Given the description of an element on the screen output the (x, y) to click on. 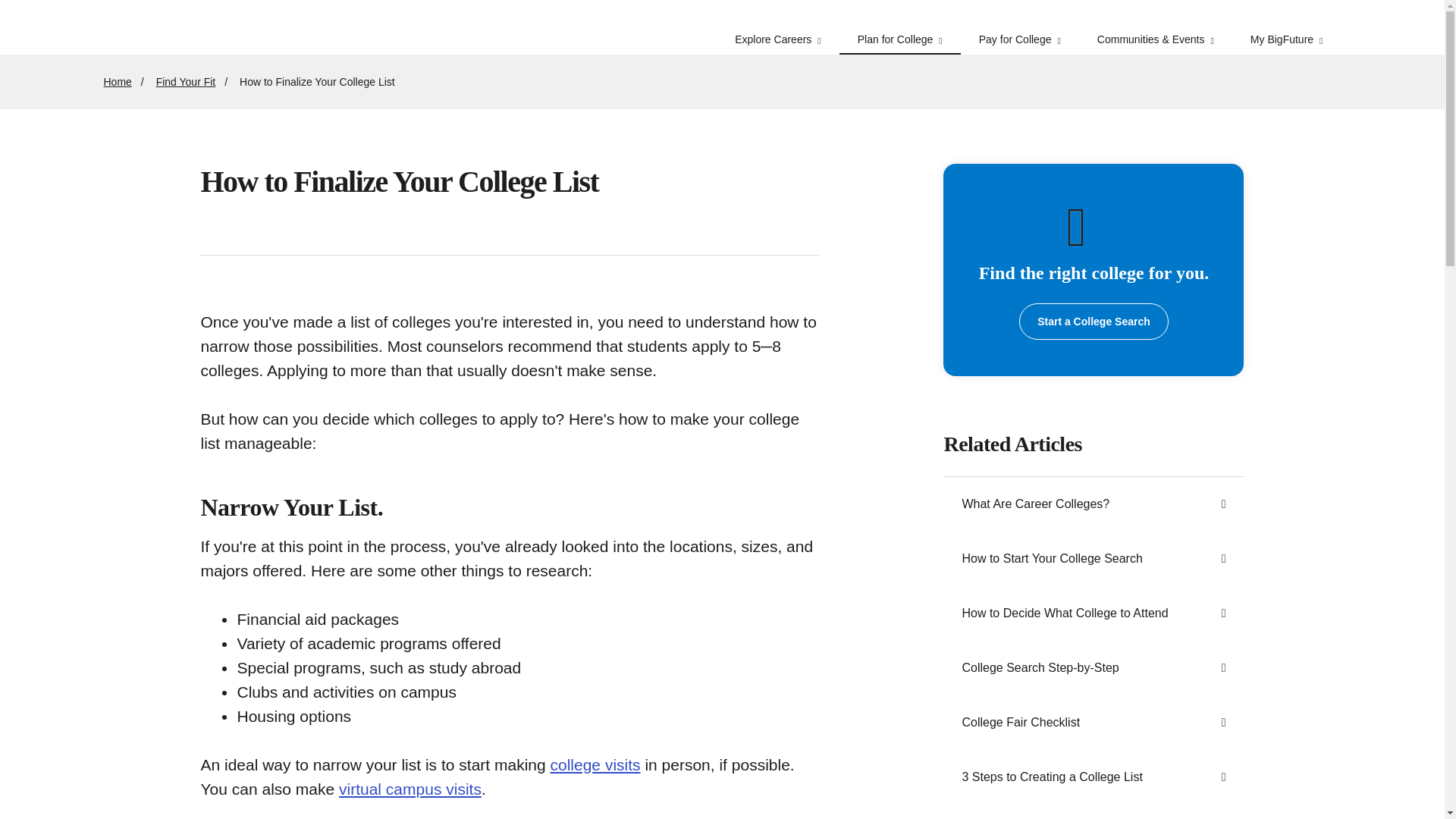
Explore Careers (778, 27)
Plan for College (900, 27)
My BigFuture (1285, 27)
Opens in a new window (1094, 321)
Pay for College (1019, 27)
